Given the description of an element on the screen output the (x, y) to click on. 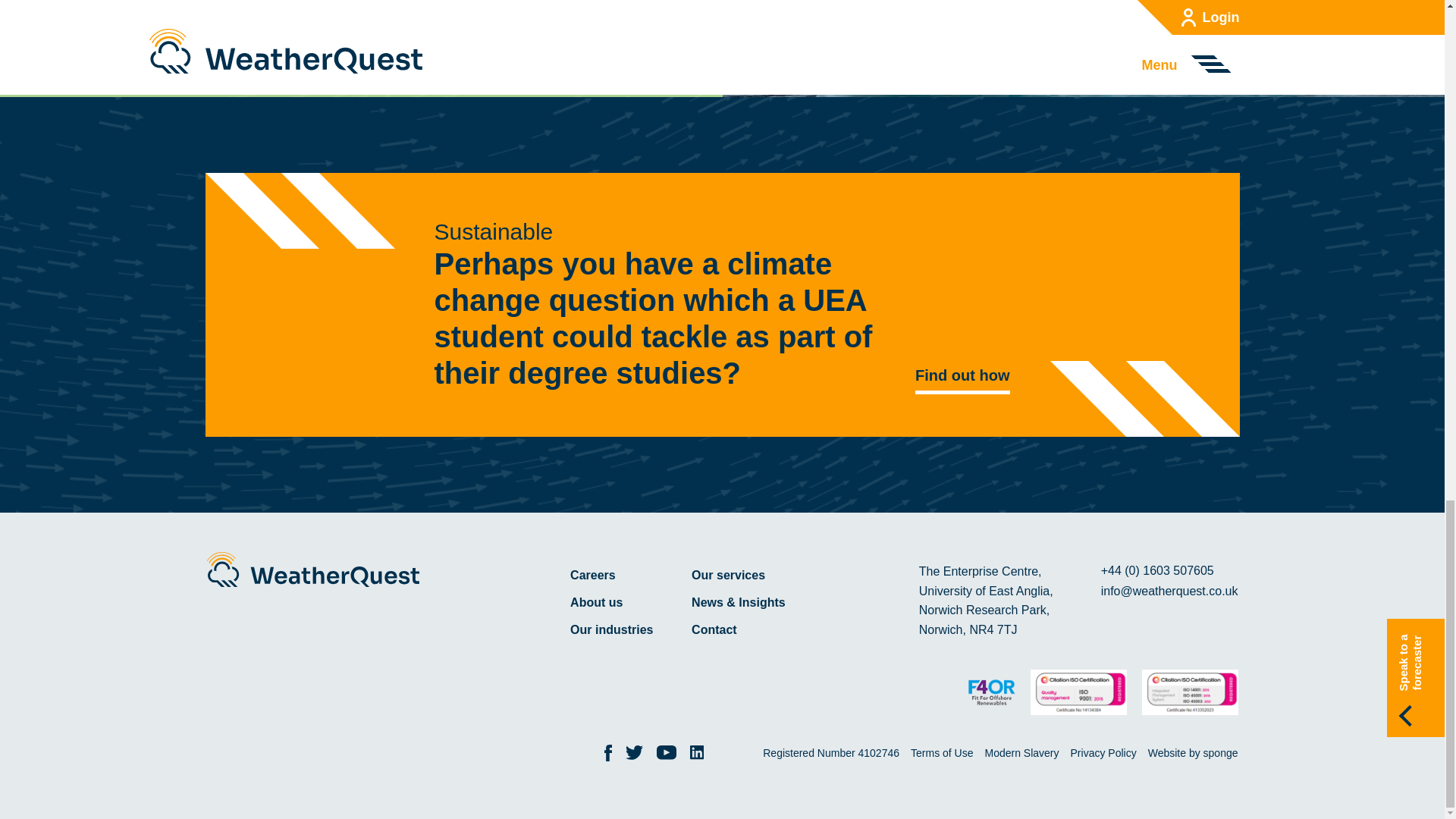
About us (623, 602)
Our industries (623, 629)
Our services (744, 574)
Careers (623, 574)
Find out how (962, 375)
